Given the description of an element on the screen output the (x, y) to click on. 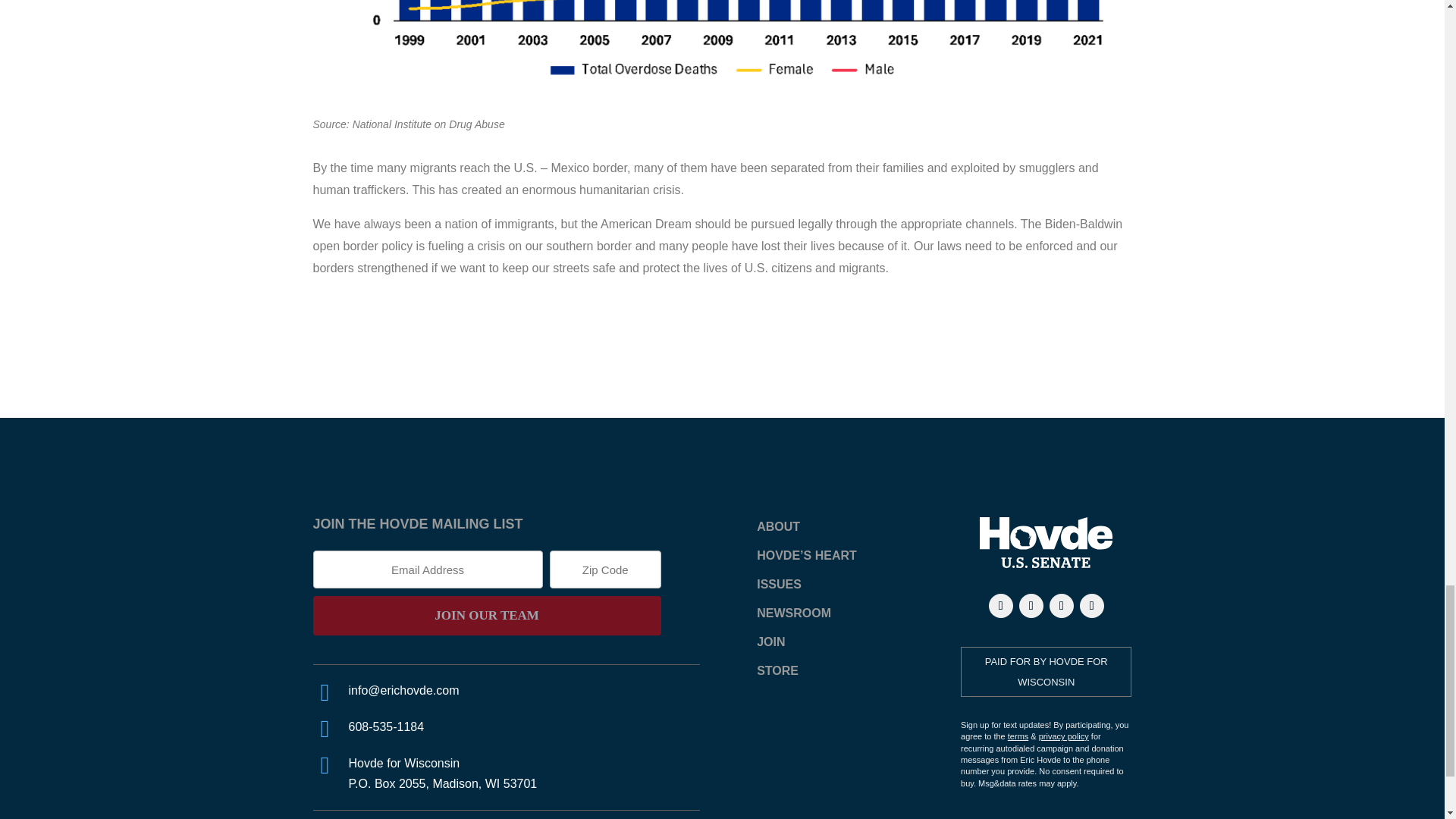
NEWSROOM (794, 612)
Follow on Facebook (1000, 605)
terms (1018, 736)
ABOUT (778, 526)
Join Our Team (487, 615)
privacy policy (1064, 736)
Join Our Team (487, 615)
ISSUES (779, 584)
National Drug-Involved Overdose Deaths (722, 45)
Hovde U.S.-Senate (1045, 542)
